Given the description of an element on the screen output the (x, y) to click on. 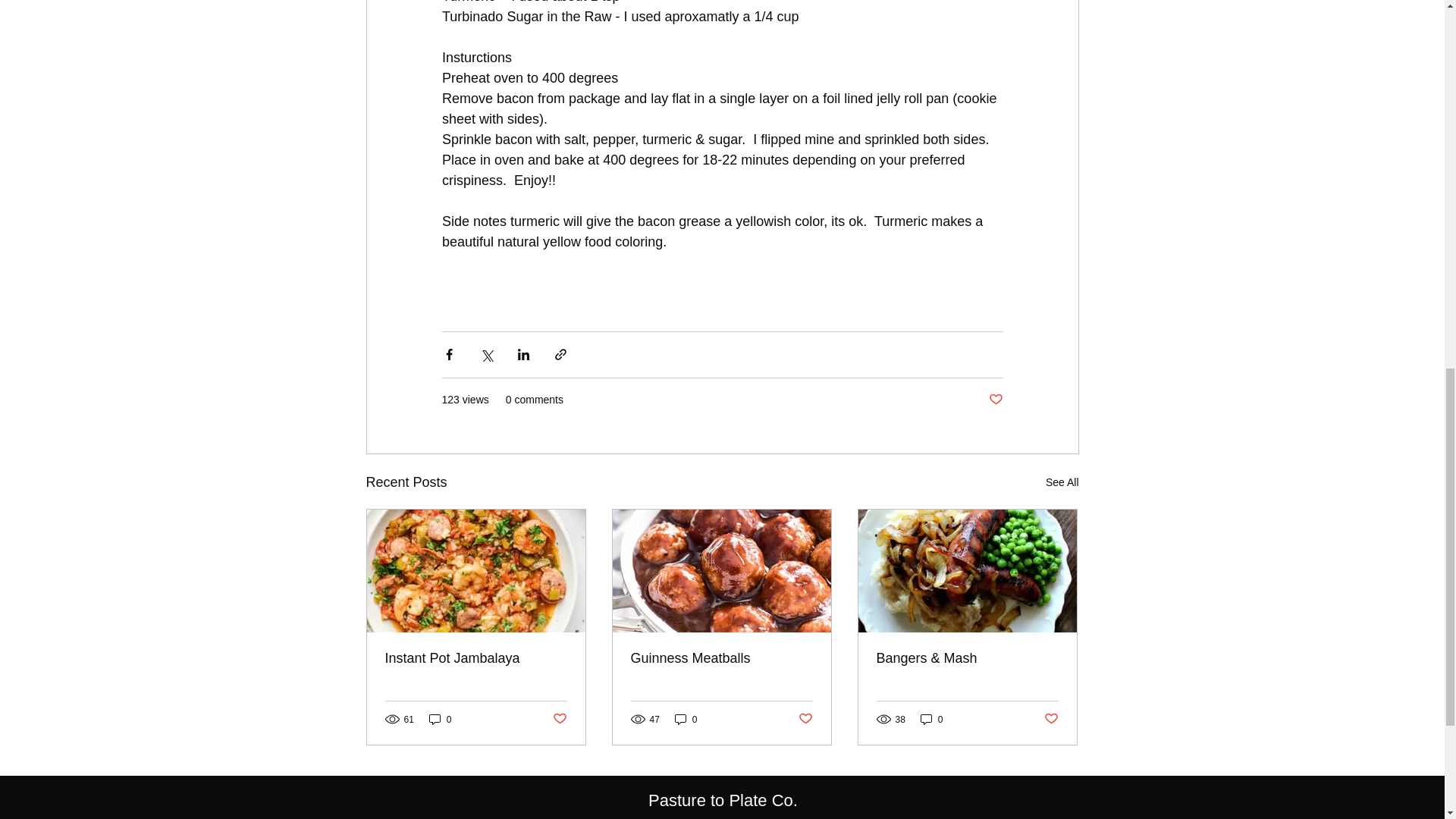
0 (685, 718)
Post not marked as liked (995, 399)
Guinness Meatballs (721, 658)
Post not marked as liked (558, 719)
Pasture to Plate Co. (722, 800)
0 (440, 718)
See All (1061, 482)
Post not marked as liked (1050, 719)
Post not marked as liked (804, 719)
0 (931, 718)
Instant Pot Jambalaya (476, 658)
